Given the description of an element on the screen output the (x, y) to click on. 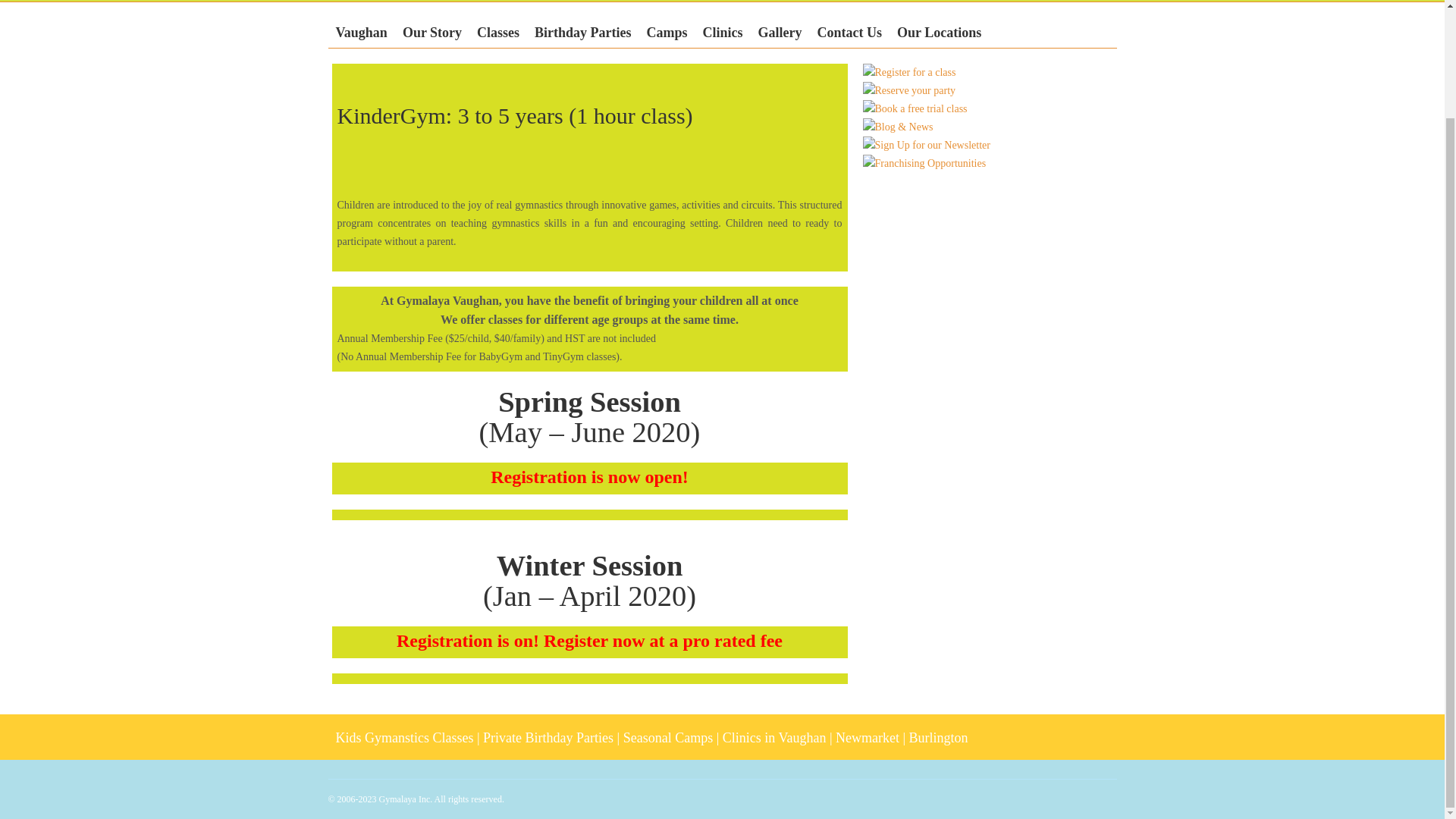
Gallery (780, 32)
Sign Up for our Newsletter (926, 145)
Birthday Parties (583, 32)
Book a free trial class (915, 108)
Vaughan (360, 32)
Franchising Opportunities (925, 163)
Our Story (431, 32)
Clinics (723, 32)
Classes (497, 32)
Contact Us (849, 32)
